Given the description of an element on the screen output the (x, y) to click on. 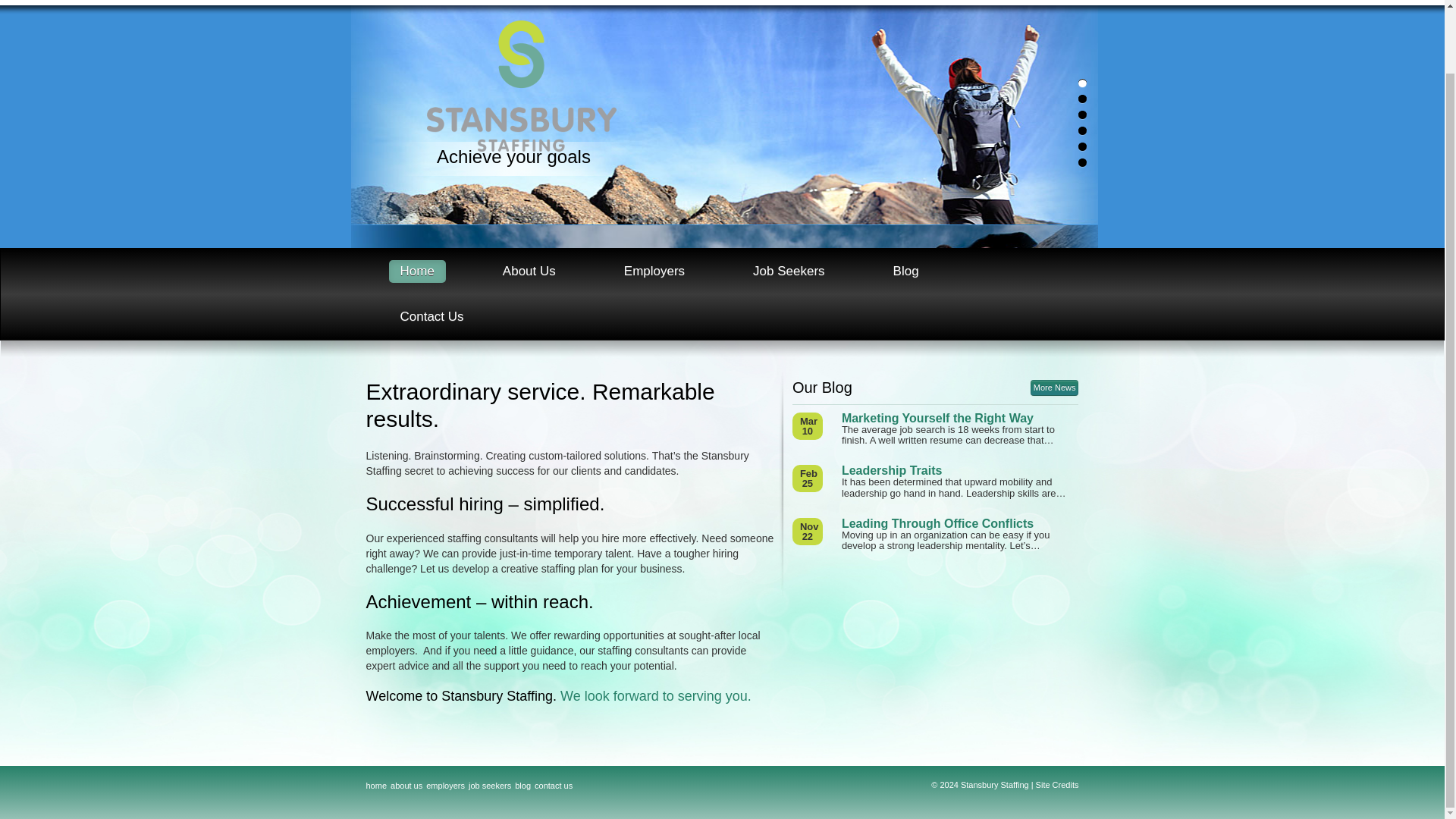
More News (1054, 387)
blog (523, 785)
job seekers (489, 785)
Leadership Traits (959, 470)
Employers (653, 271)
employers (445, 785)
Blog (906, 271)
Job Seekers (788, 271)
Contact Us (431, 316)
Marketing Yourself the Right Way (959, 418)
We look forward to serving you. (655, 695)
about us (406, 785)
About Us (529, 271)
home (376, 785)
Leading Through Office Conflicts (959, 523)
